Given the description of an element on the screen output the (x, y) to click on. 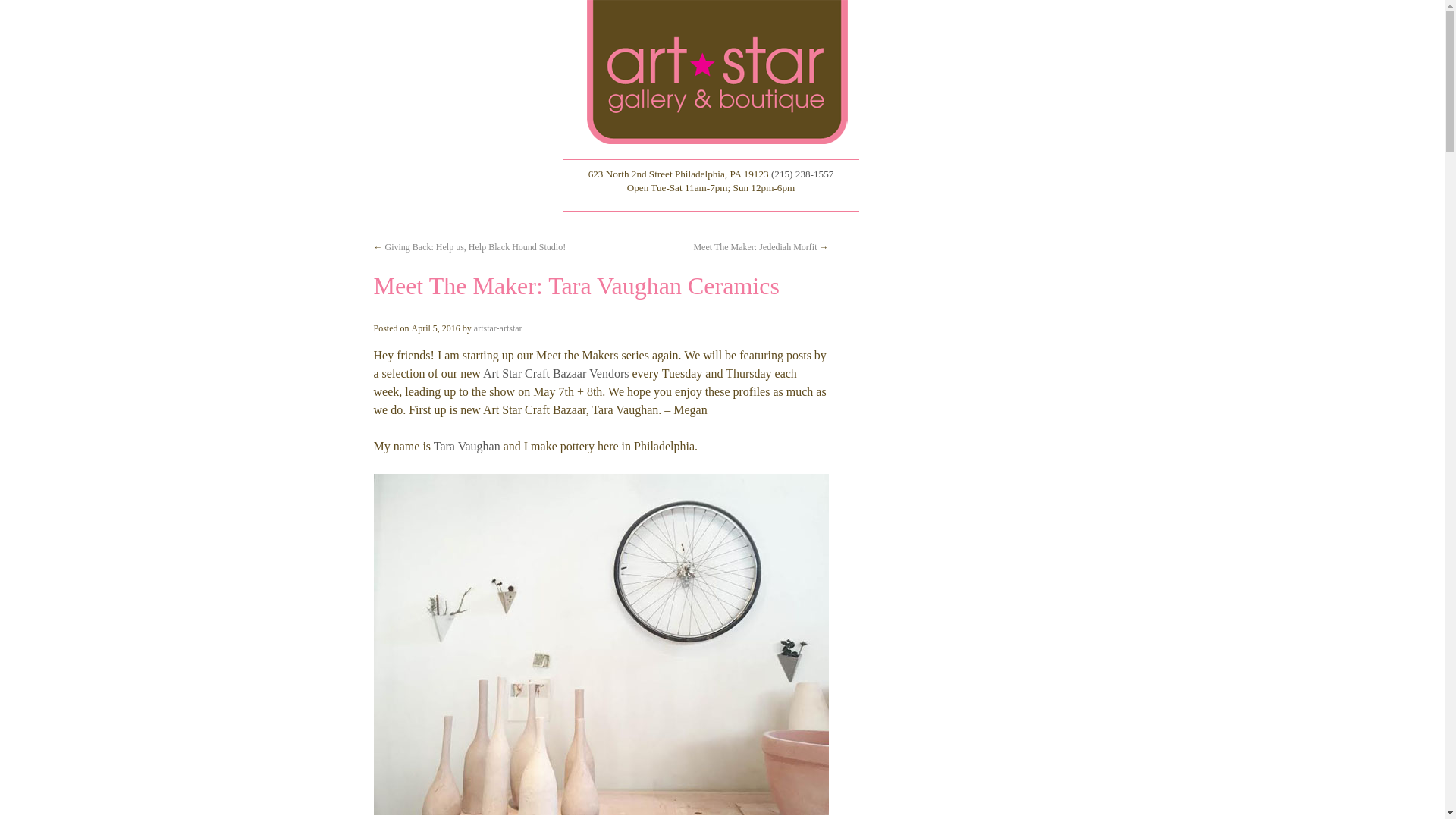
View all posts by artstar-artstar (498, 327)
Art Star (721, 72)
April 5, 2016 (436, 327)
Tara Vaughan (466, 445)
Art Star Craft Bazaar Vendors (555, 373)
3:14 pm (436, 327)
artstar-artstar (498, 327)
